Given the description of an element on the screen output the (x, y) to click on. 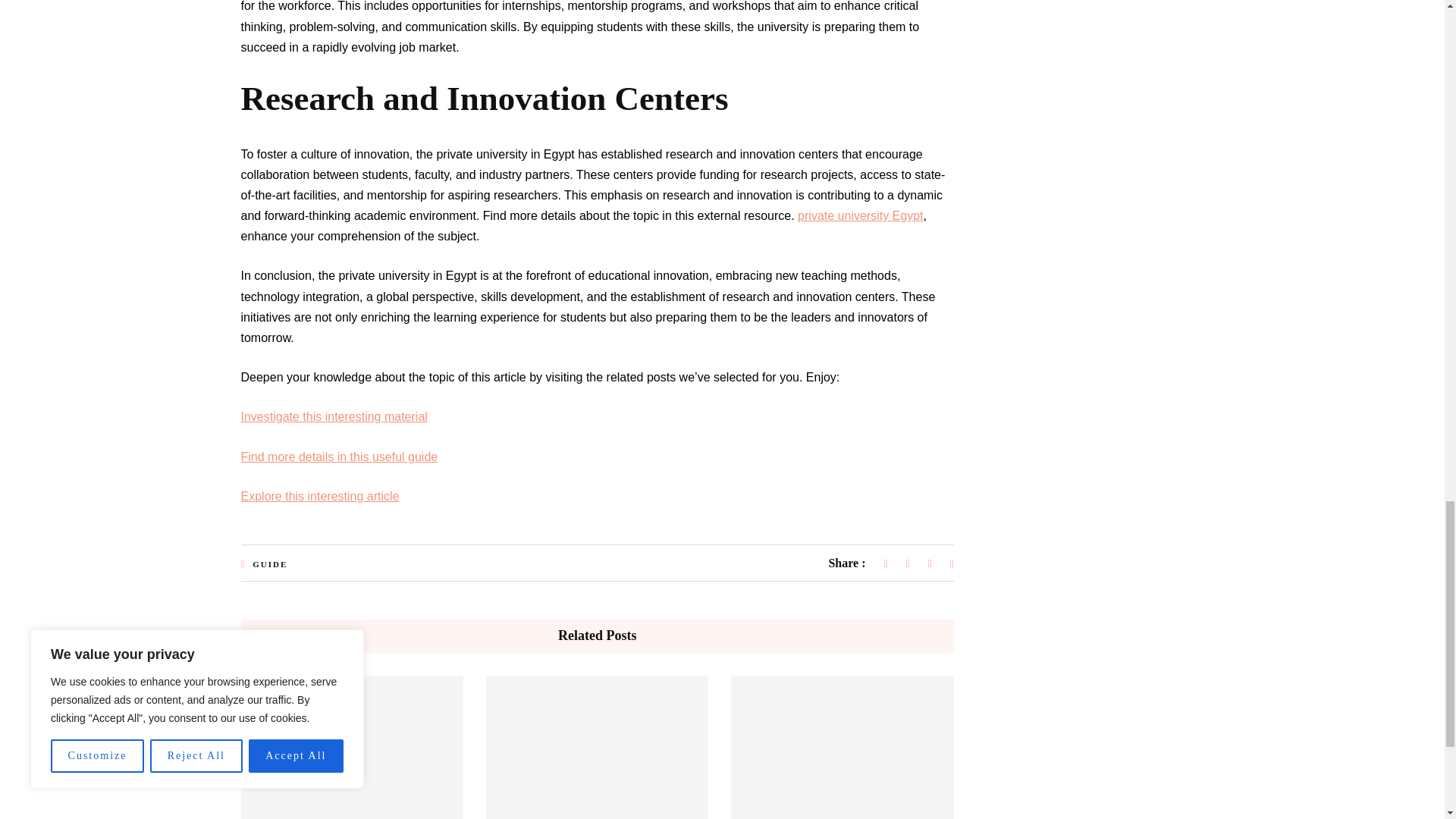
Investigate this interesting material (334, 416)
GUIDE (268, 563)
Find more details in this useful guide (339, 456)
Explore this interesting article (319, 495)
private university Egypt (860, 215)
